Given the description of an element on the screen output the (x, y) to click on. 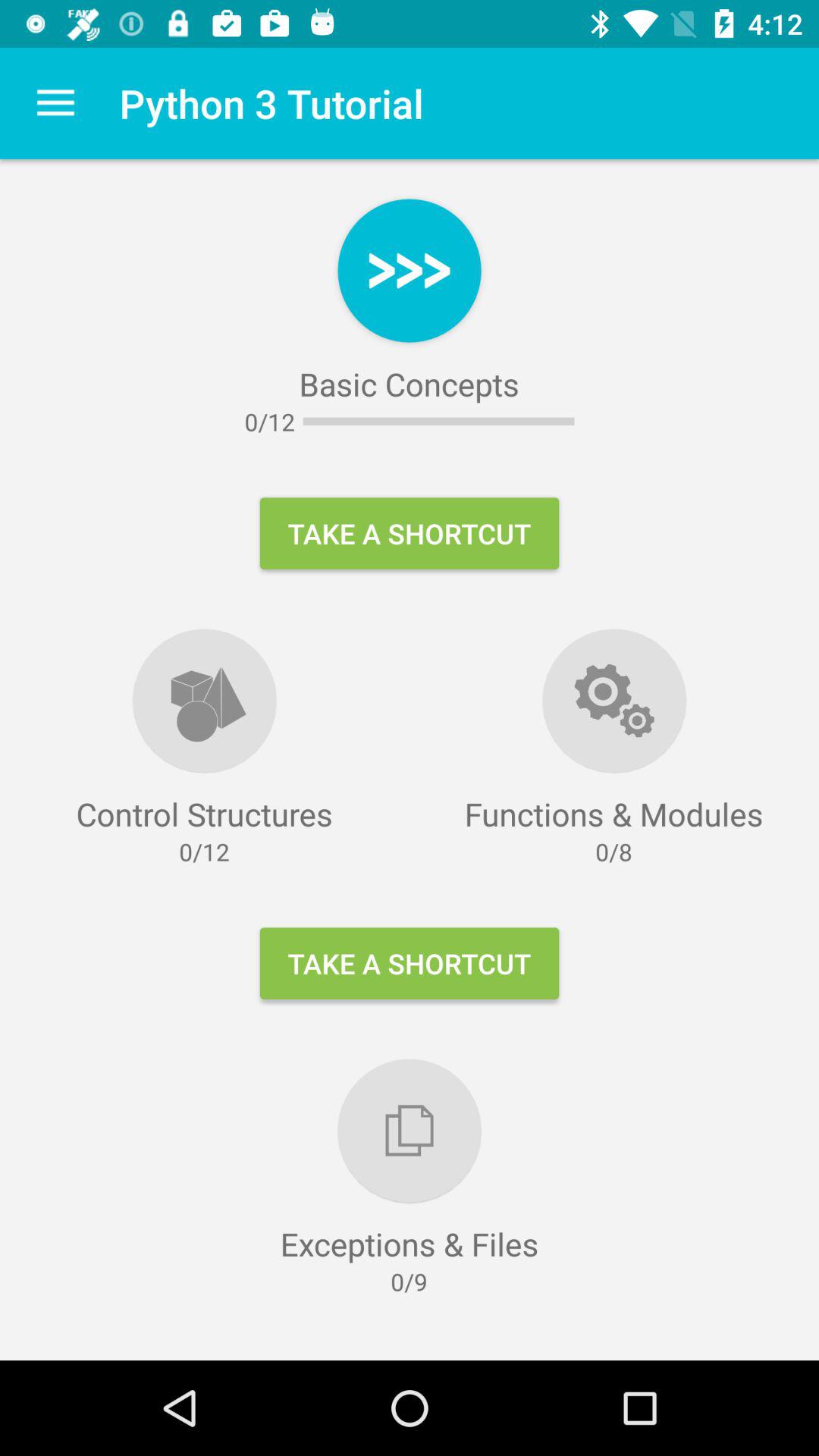
select the text box which says take a shortcut (409, 963)
click on logo above exceptions  files (409, 1130)
select the symbol above control structures (204, 700)
select the forward symbol option above basic concepts (409, 270)
